Given the description of an element on the screen output the (x, y) to click on. 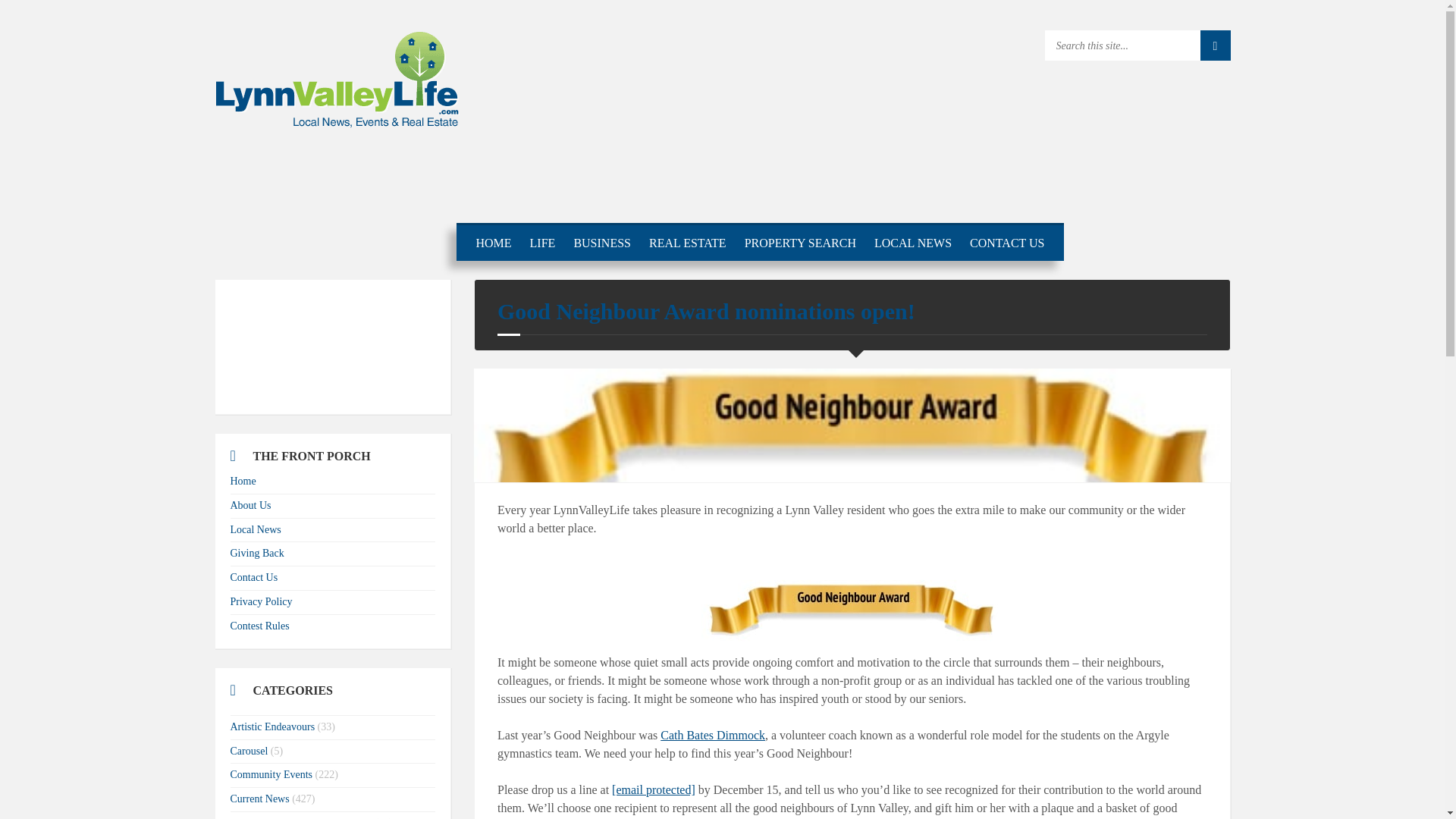
LIFE (542, 243)
HOME (492, 243)
LOCAL NEWS (912, 243)
CONTACT US (1006, 243)
BUSINESS (602, 243)
Cath Bates Dimmock (713, 735)
PROPERTY SEARCH (799, 243)
REAL ESTATE (687, 243)
